Given the description of an element on the screen output the (x, y) to click on. 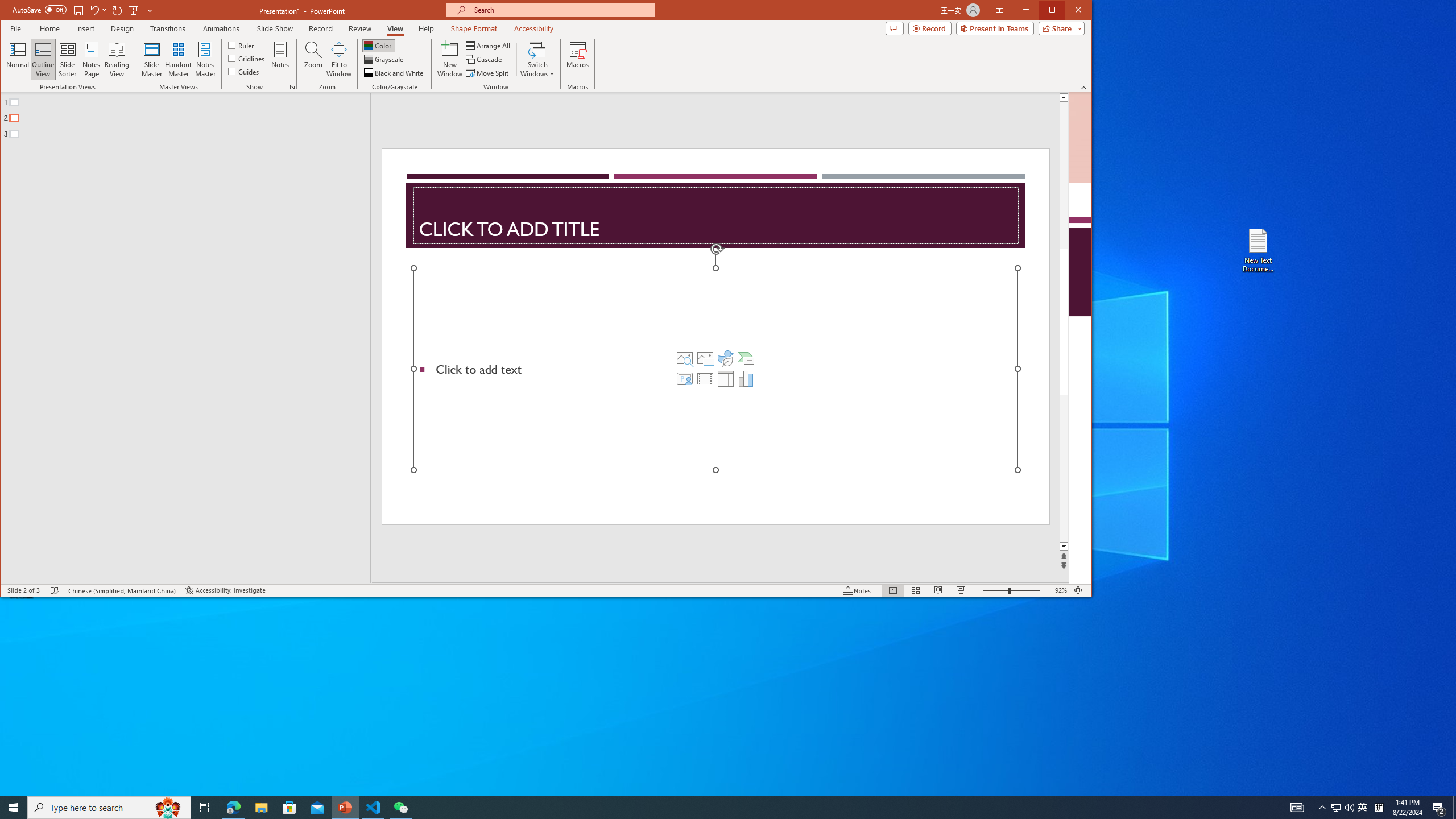
Guides (243, 70)
New Window (450, 59)
Notes Master (204, 59)
Cascade (484, 59)
